Given the description of an element on the screen output the (x, y) to click on. 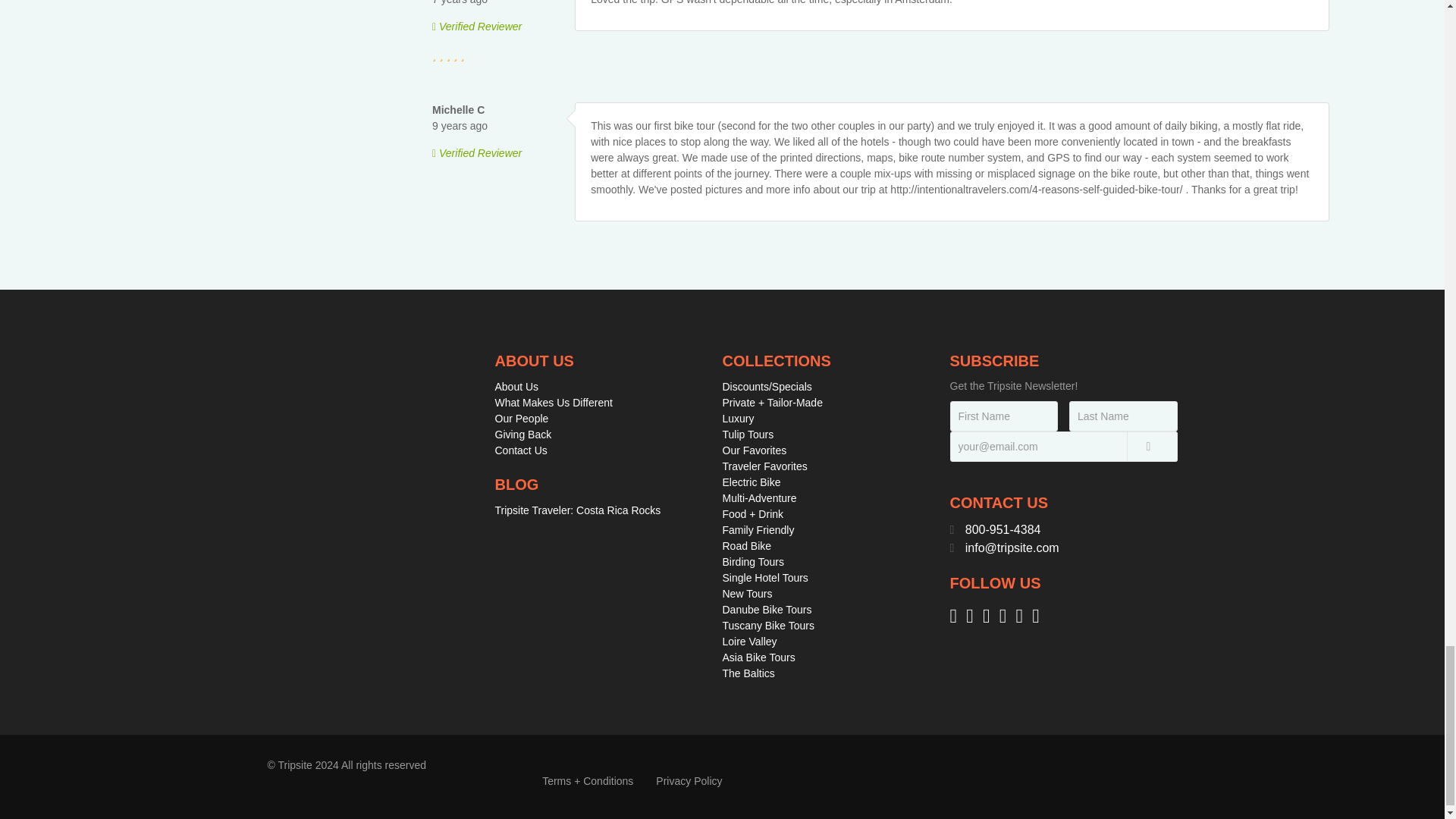
First Name (1003, 416)
Last Name (1122, 416)
Email (1062, 446)
